Given the description of an element on the screen output the (x, y) to click on. 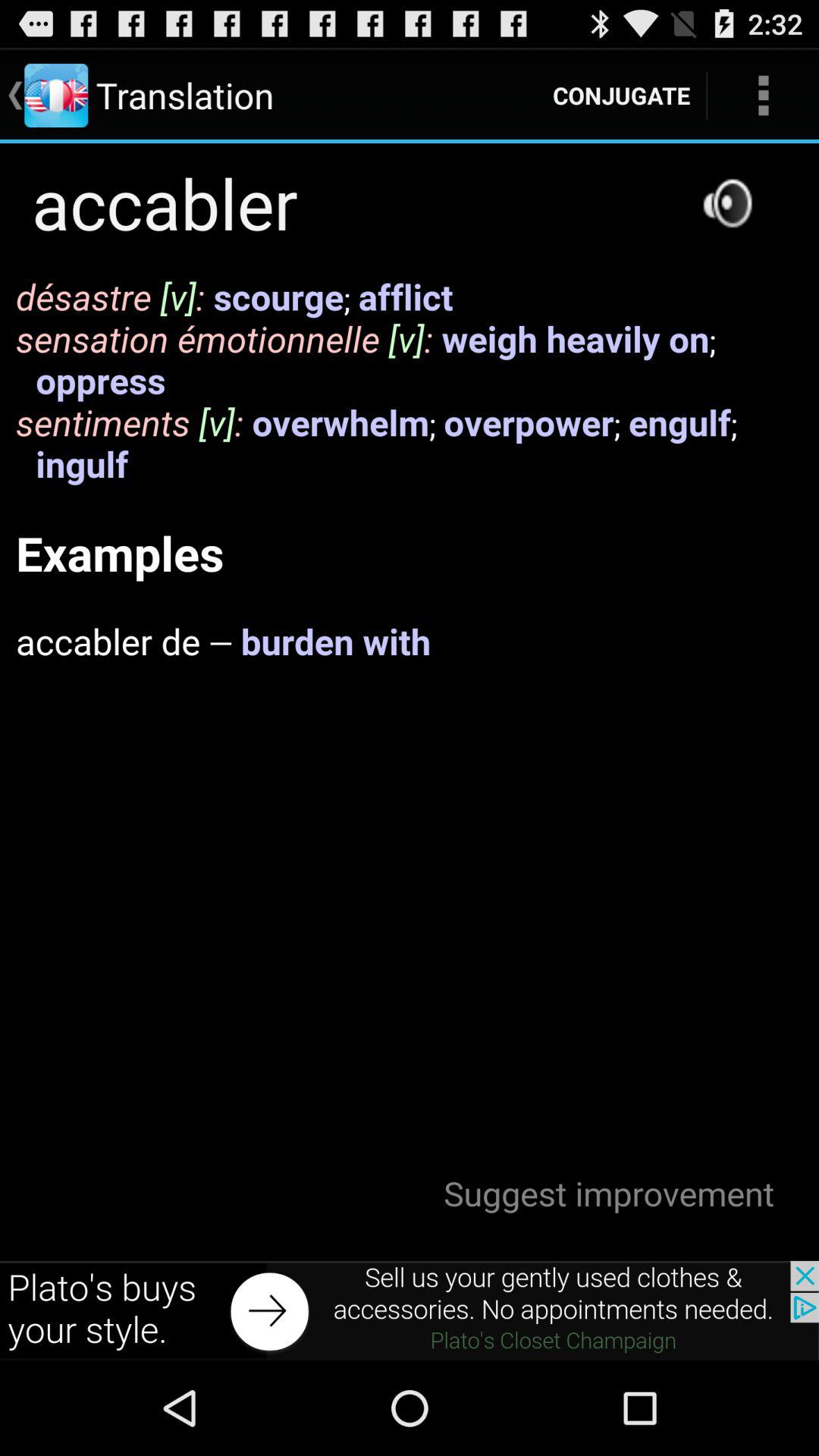
advertistment banner (409, 1310)
